Given the description of an element on the screen output the (x, y) to click on. 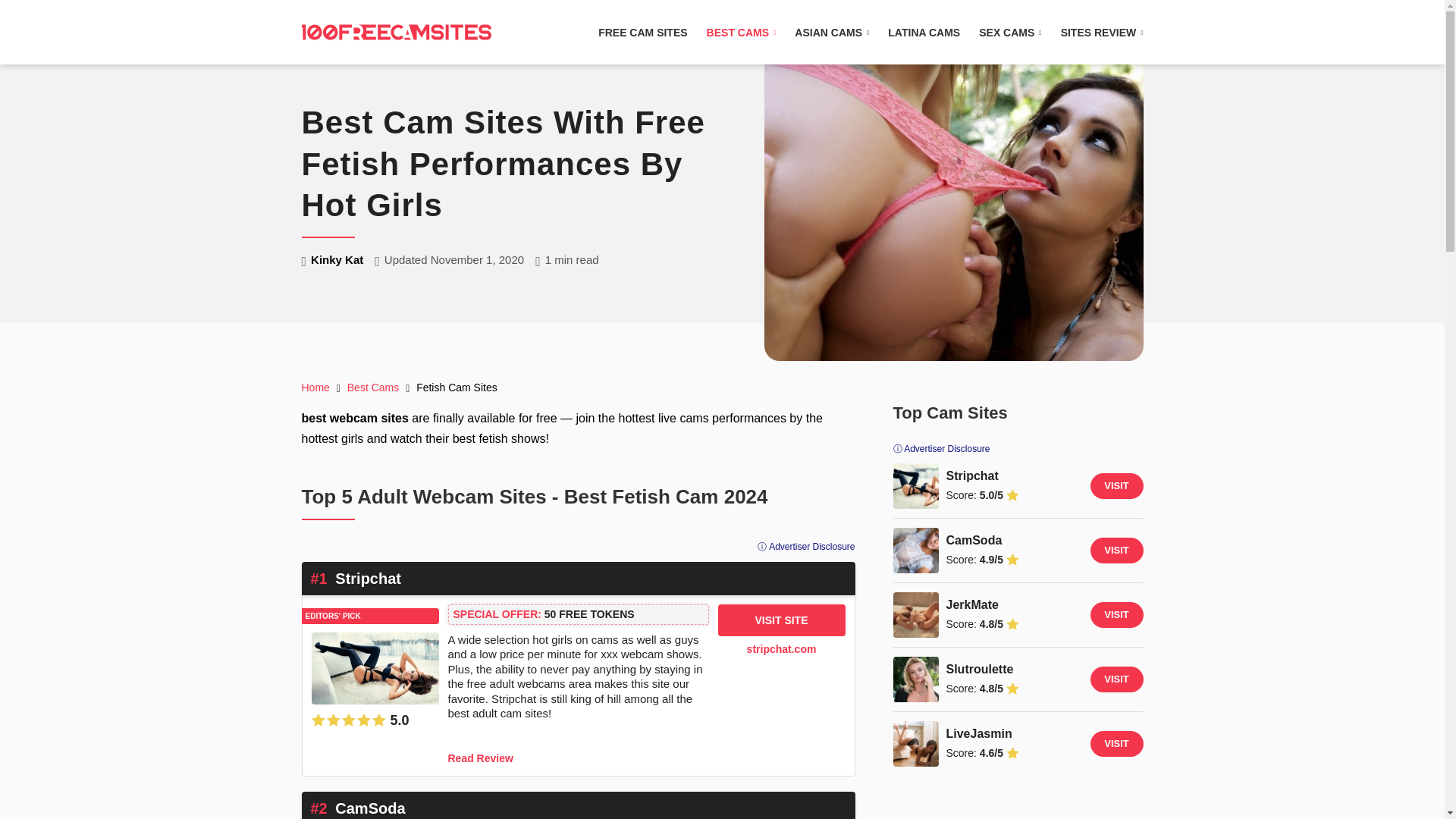
BEST CAMS (741, 31)
ASIAN CAMS (831, 31)
Visit stripchat.com (916, 485)
FREE CAM SITES (642, 31)
Our Score (348, 719)
Posts by Kinky Kat (336, 259)
SITES REVIEW (1101, 31)
Rated by our team (374, 720)
Visit www.camsoda.com (916, 550)
SEX CAMS (1009, 31)
